Given the description of an element on the screen output the (x, y) to click on. 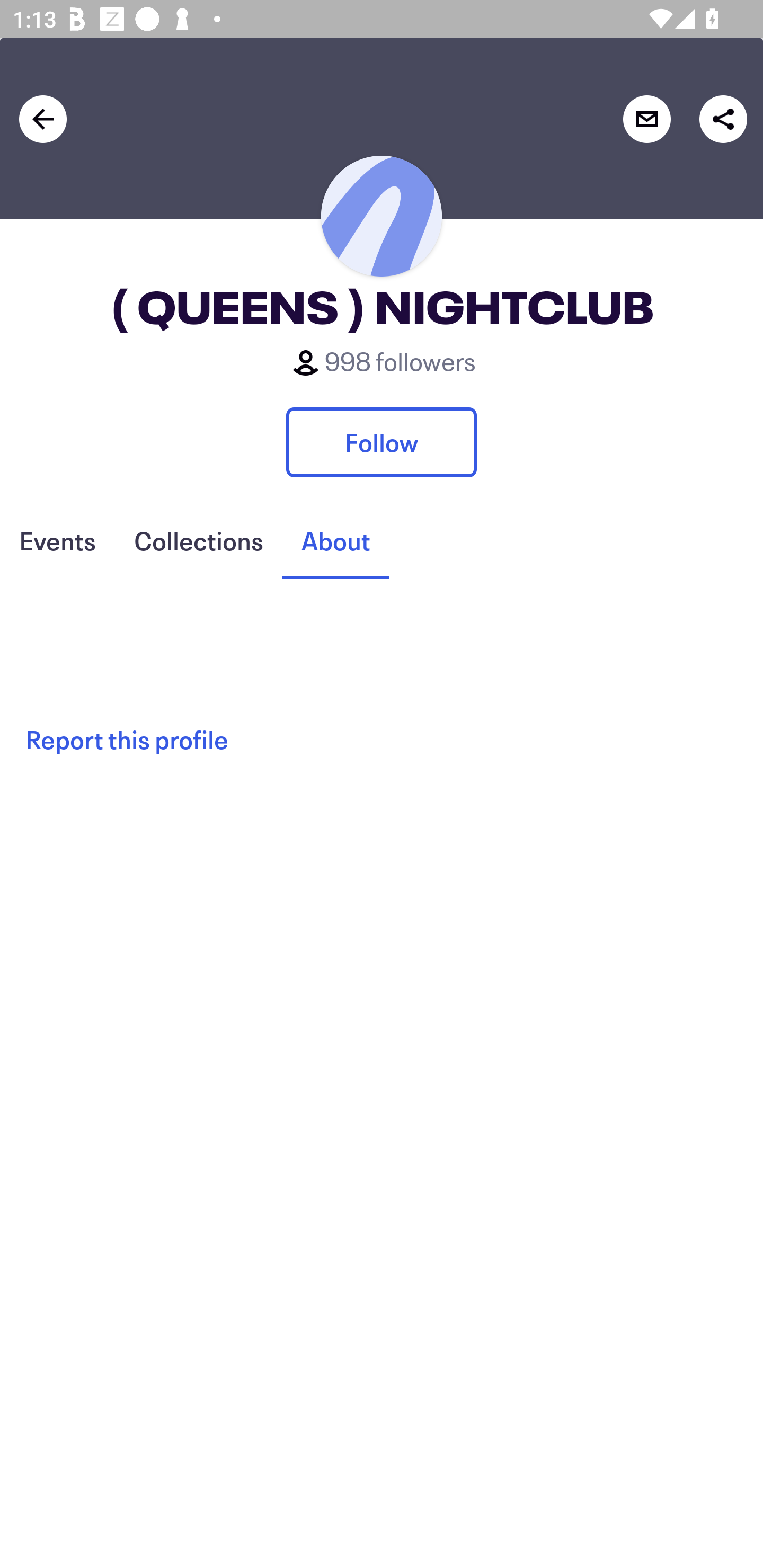
Back navigation arrow (43, 118)
Contact organizer (646, 118)
Share with friends (722, 118)
Follow (381, 441)
Collections (198, 540)
About (335, 540)
